Given the description of an element on the screen output the (x, y) to click on. 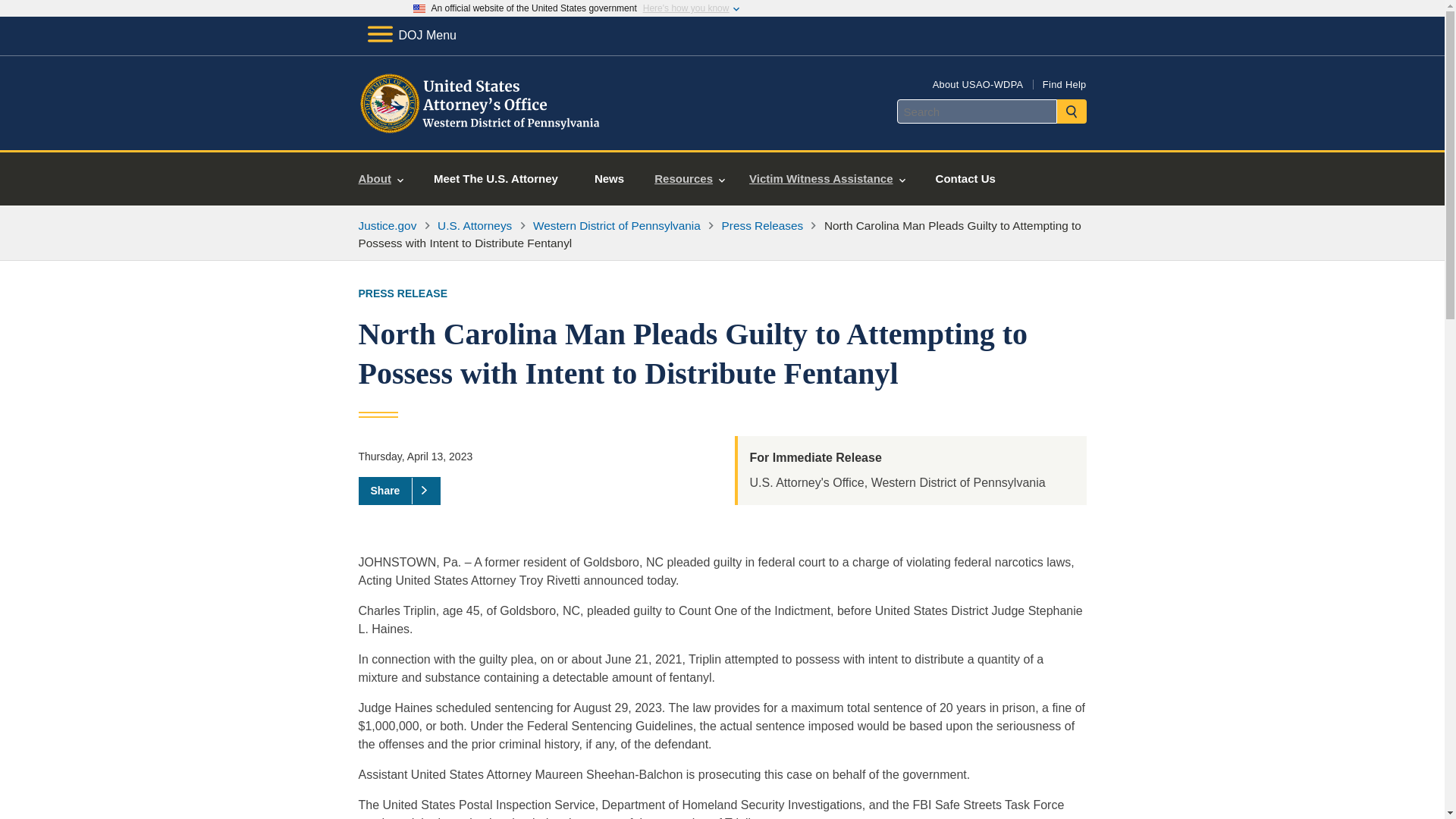
Victim Witness Assistance (826, 179)
About USAO-WDPA (978, 84)
Meet The U.S. Attorney (495, 179)
Share (398, 490)
Home (481, 132)
About (380, 179)
Press Releases (762, 225)
Resources (689, 179)
News (609, 179)
Here's how you know (686, 8)
